Given the description of an element on the screen output the (x, y) to click on. 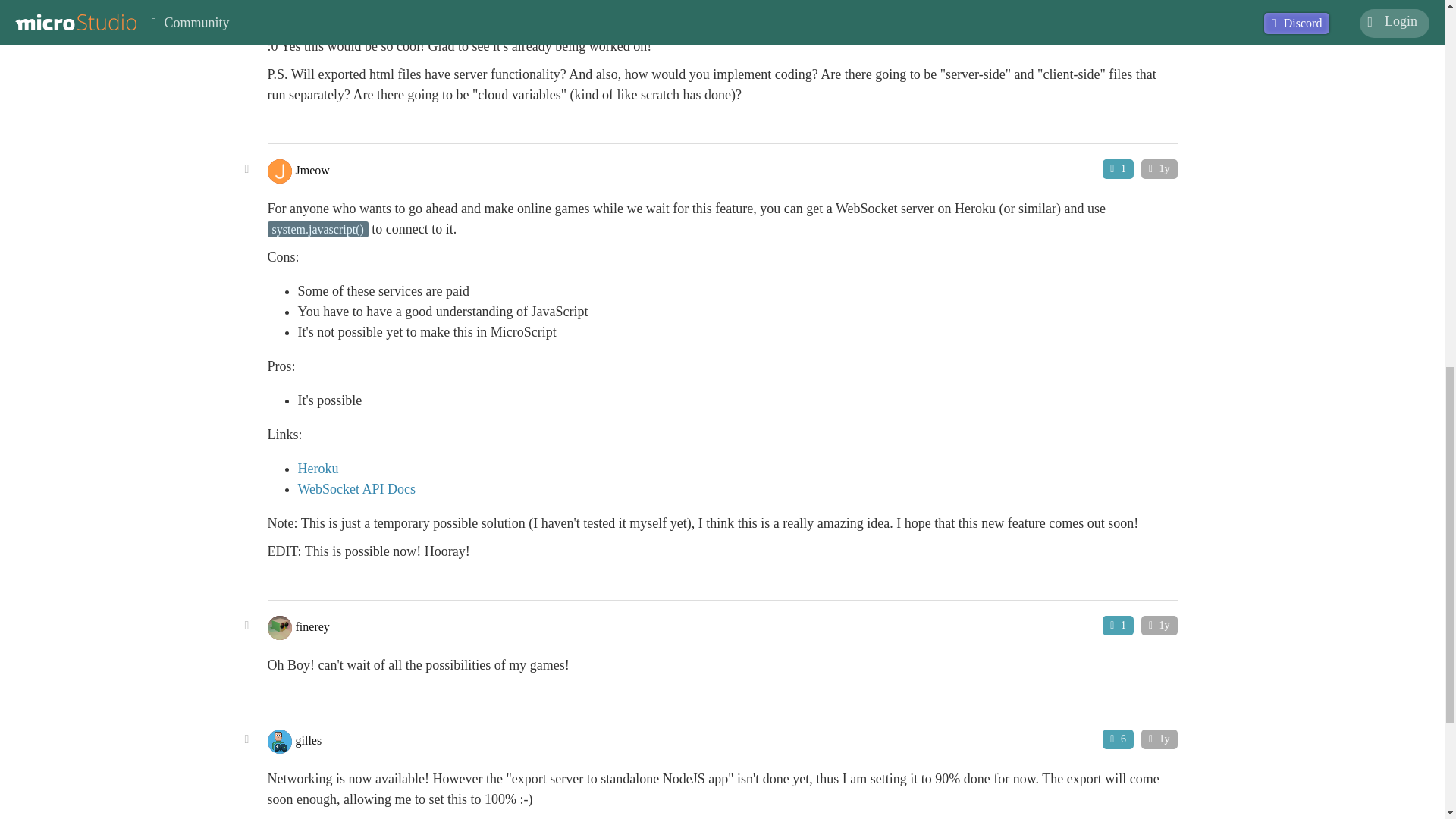
WebSocket API Docs (355, 488)
finerey (312, 625)
gilles (308, 739)
JmeJuniper (322, 6)
Heroku (317, 468)
Jmeow (312, 169)
